Given the description of an element on the screen output the (x, y) to click on. 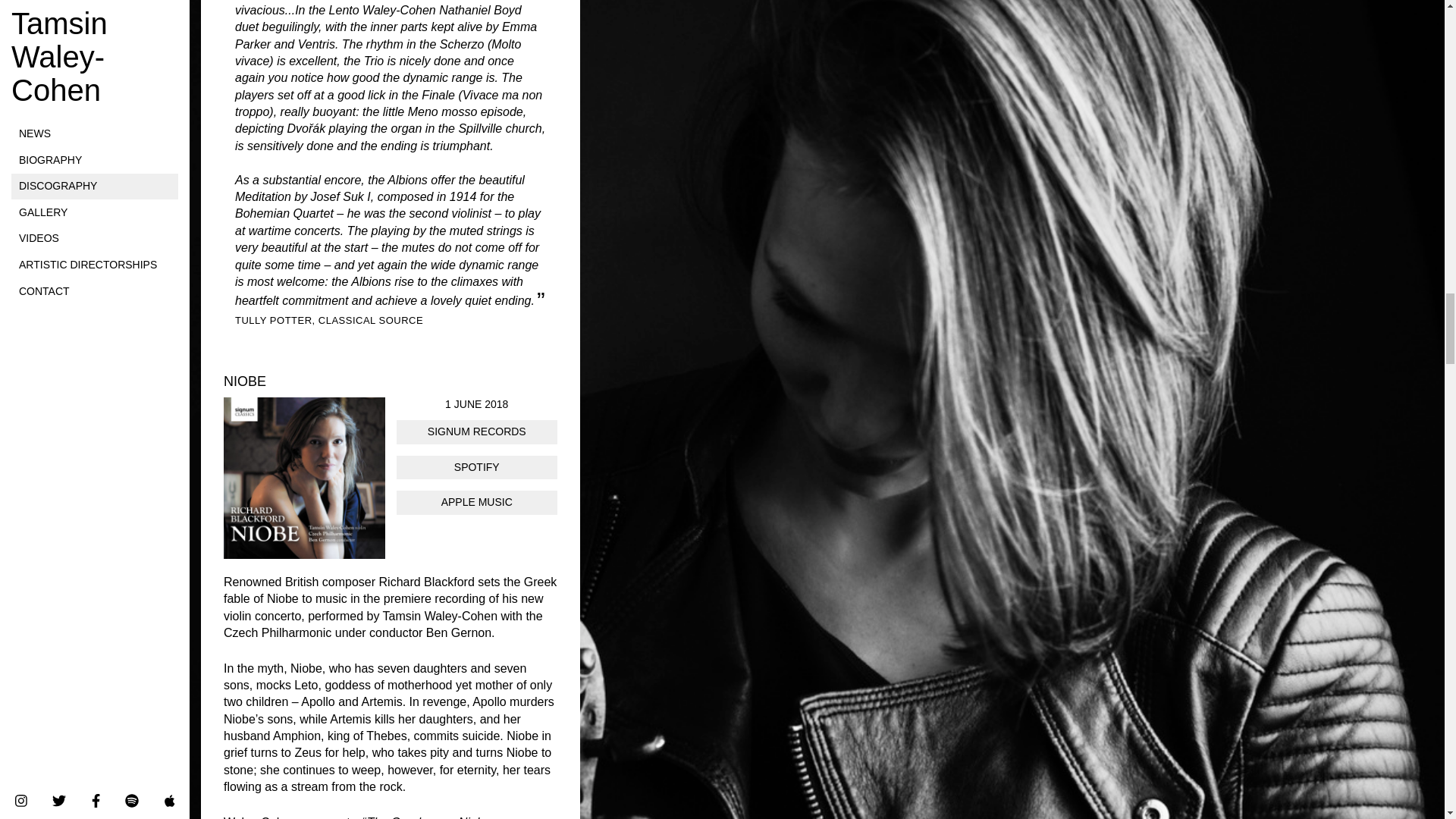
SIGNUM RECORDS (476, 432)
APPLE MUSIC (476, 502)
SPOTIFY (476, 467)
